Given the description of an element on the screen output the (x, y) to click on. 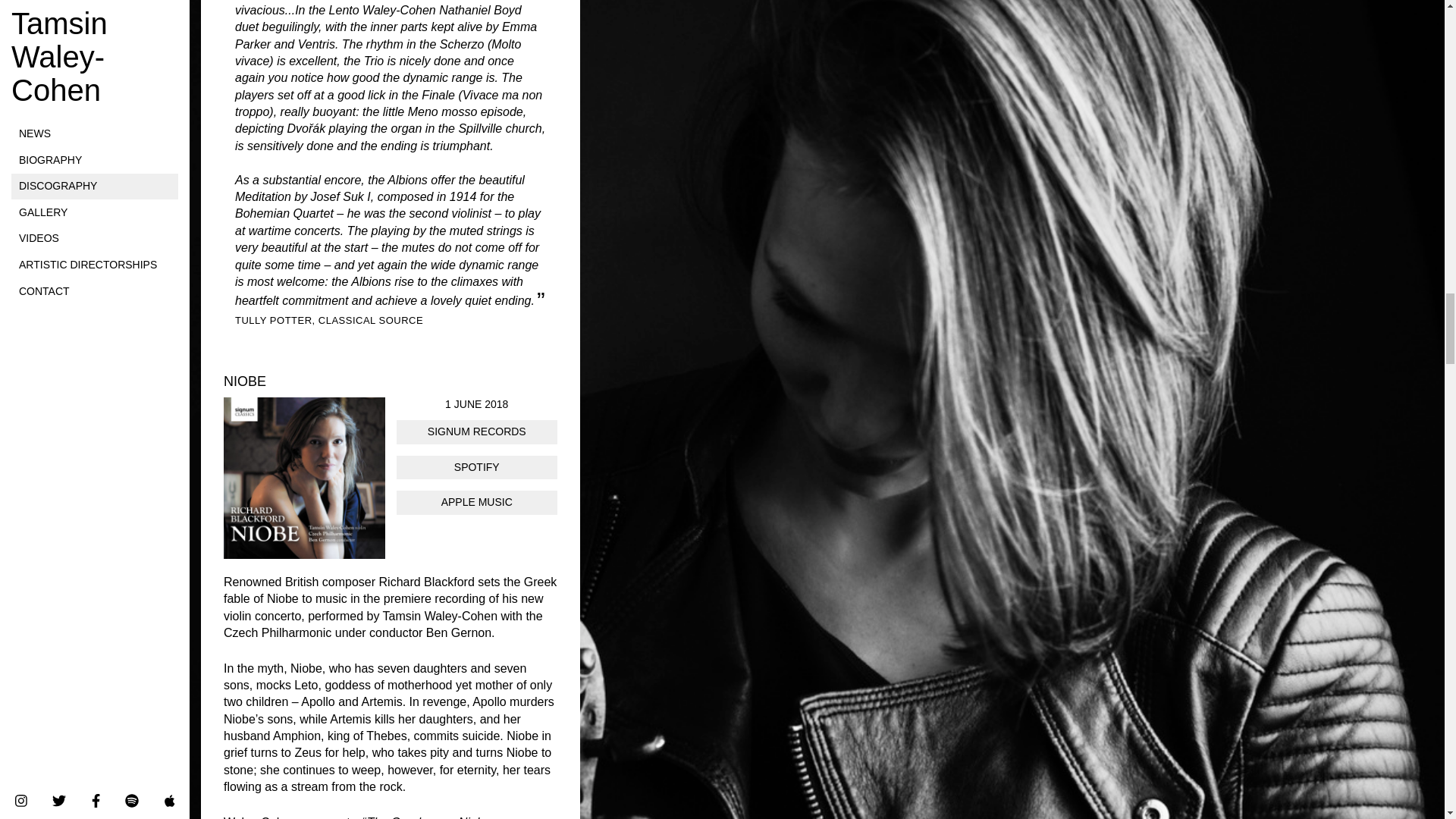
SIGNUM RECORDS (476, 432)
APPLE MUSIC (476, 502)
SPOTIFY (476, 467)
